Given the description of an element on the screen output the (x, y) to click on. 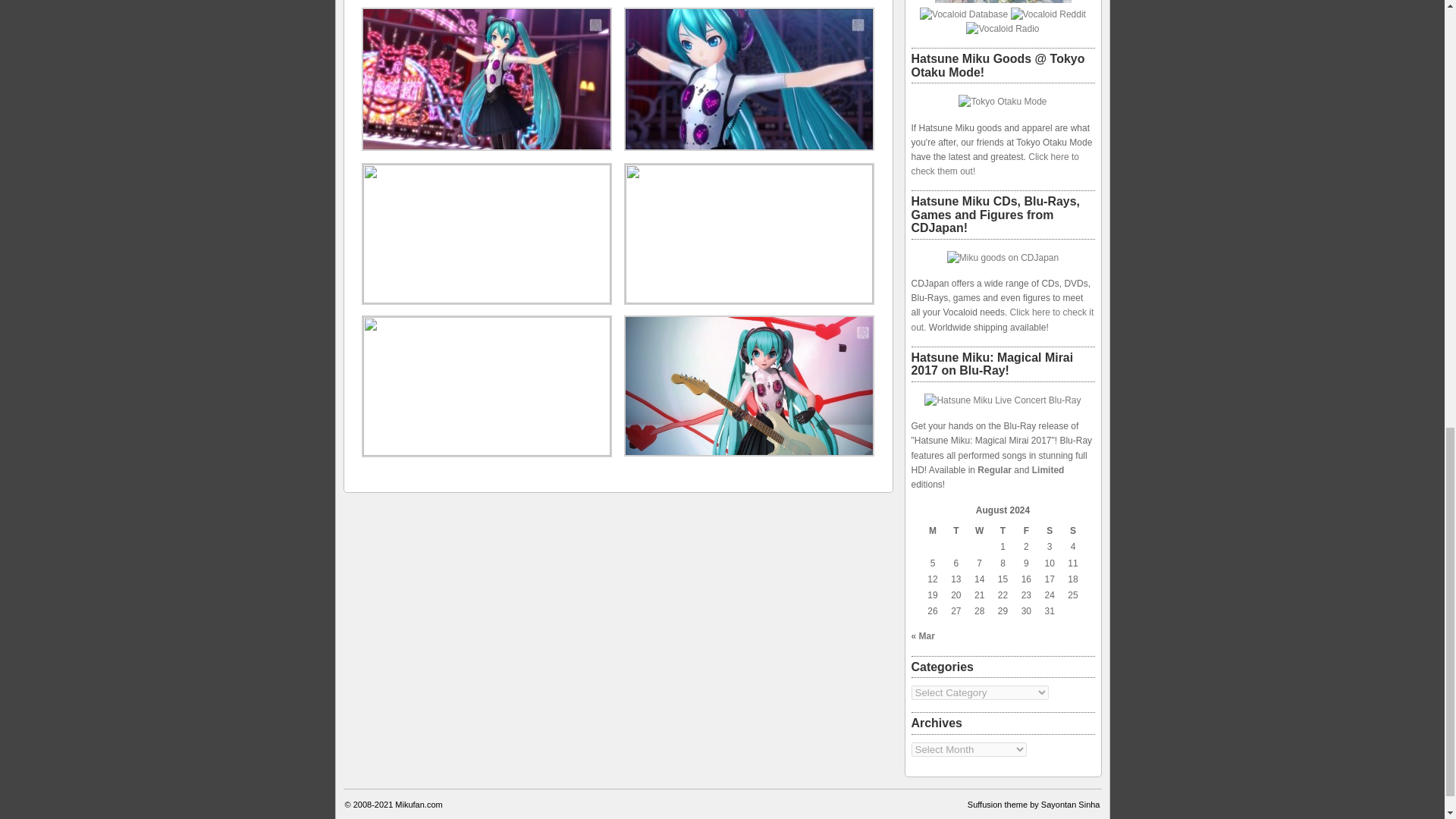
Friday (1025, 531)
Saturday (1050, 531)
Tokyo Otaku Mode (1002, 101)
Wednesday (979, 531)
Tokiko's Diary Sapporo (1002, 2)
Thursday (1002, 531)
Sunday (1073, 531)
Tuesday (955, 531)
Click here to check them out! (994, 163)
Vocaloid Reddit (1048, 14)
Monday (932, 531)
